Given the description of an element on the screen output the (x, y) to click on. 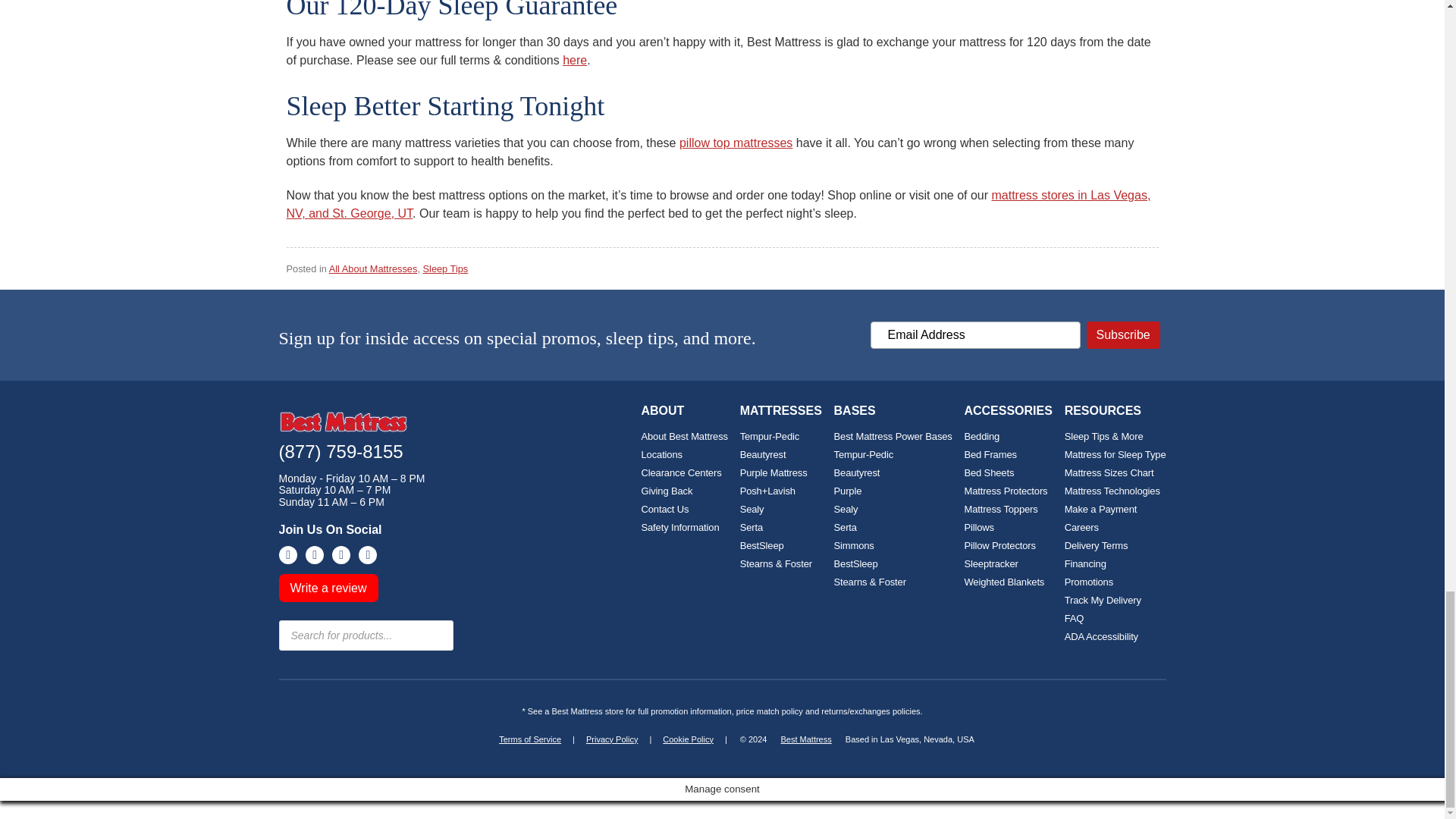
Subscribe (1123, 334)
